Given the description of an element on the screen output the (x, y) to click on. 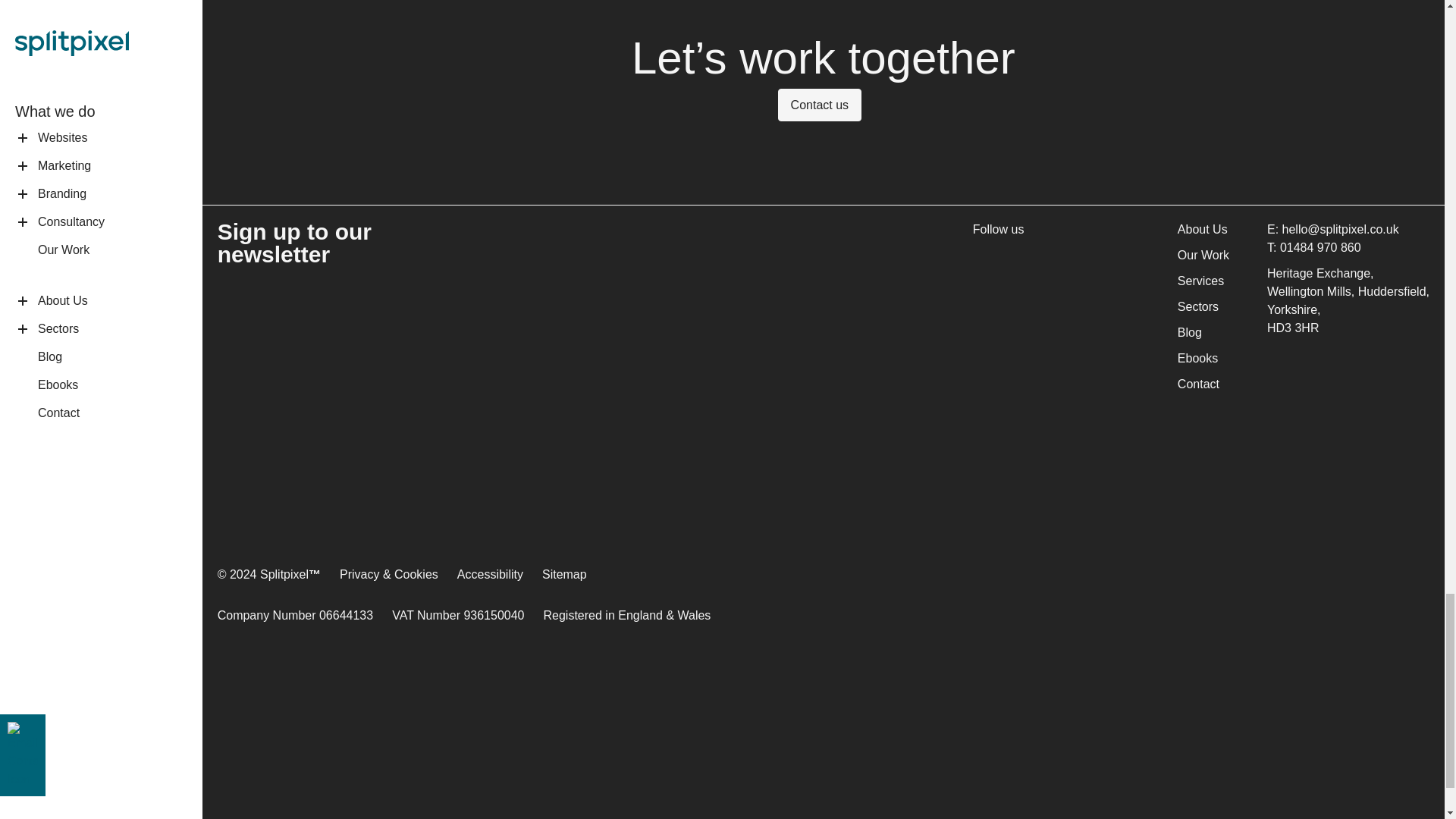
View our Ecologi profile (1292, 683)
